Given the description of an element on the screen output the (x, y) to click on. 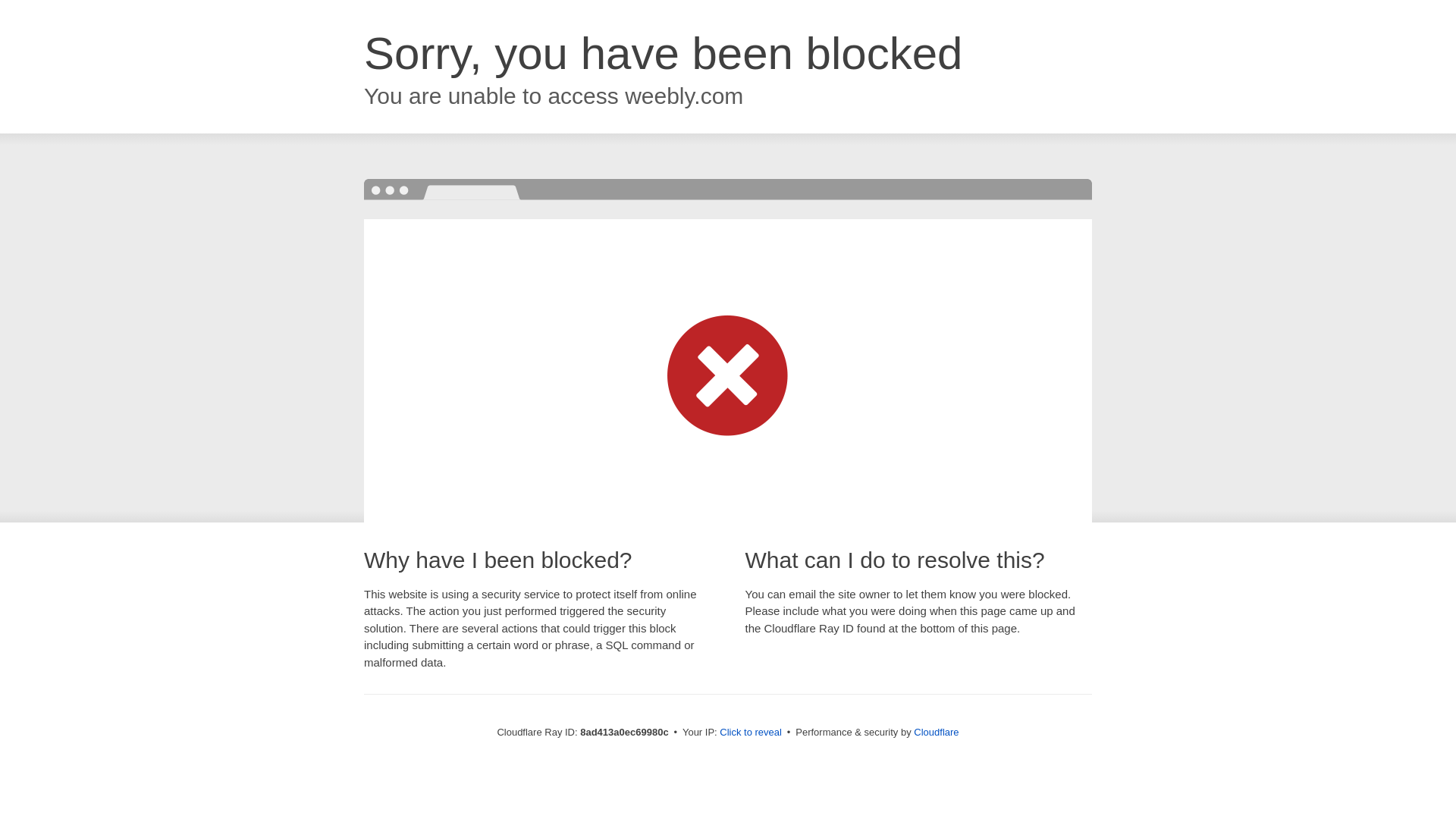
Click to reveal (750, 732)
Cloudflare (936, 731)
